Given the description of an element on the screen output the (x, y) to click on. 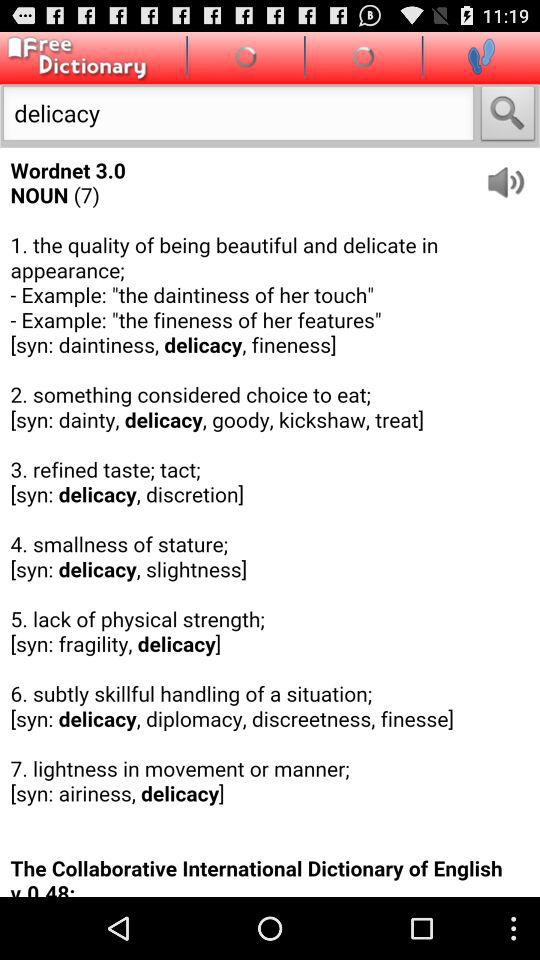
change volume (512, 174)
